Given the description of an element on the screen output the (x, y) to click on. 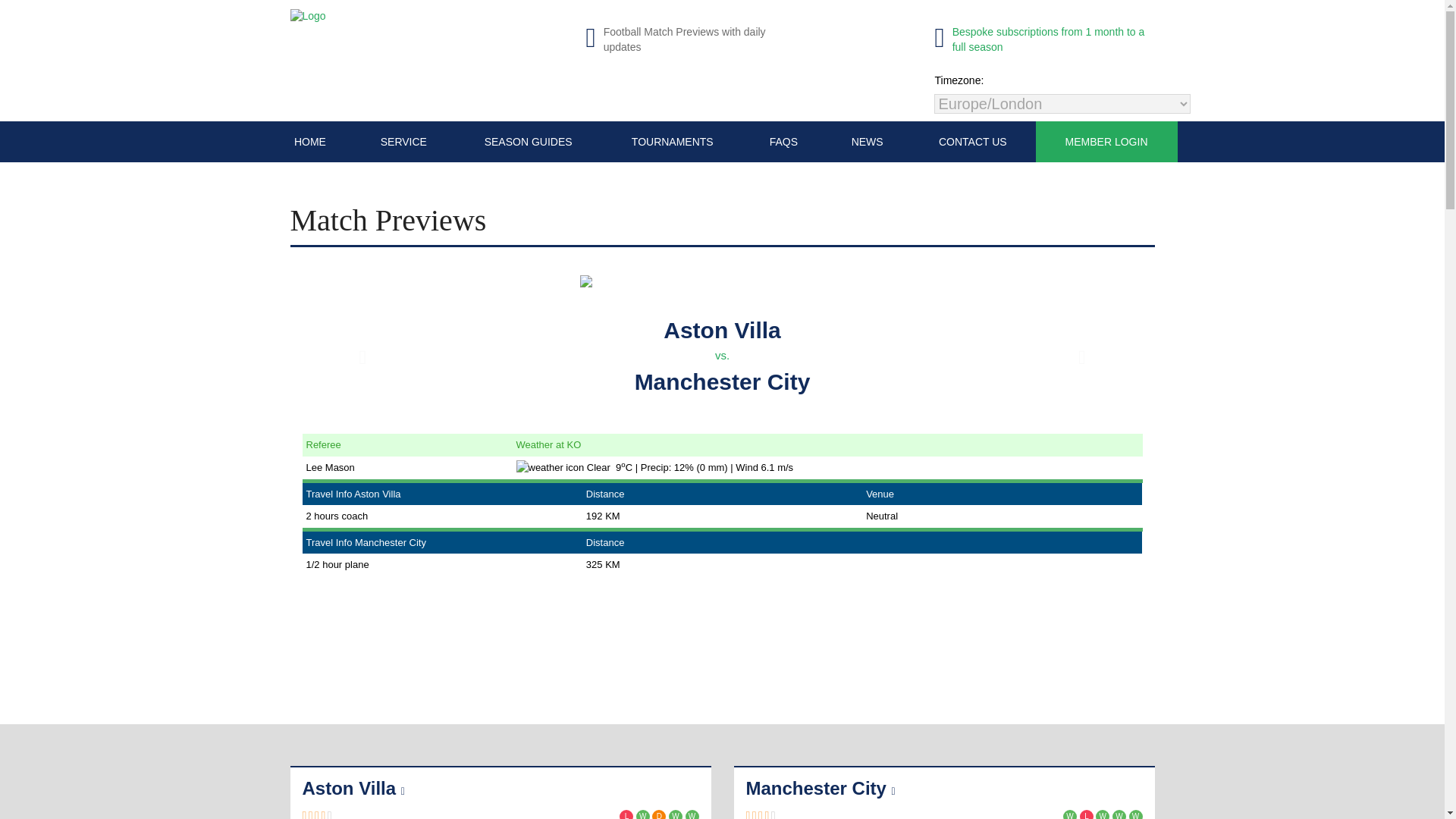
Leicester City 1 vs. Aston Villa 1 (658, 814)
Aston Villa 2 vs. Leicester City 1 (642, 814)
SERVICE (403, 141)
Oxford United 1 vs. Manchester City 3 (1118, 814)
Aston Villa 1 vs. Manchester City 2 (626, 814)
Aston Villa 2 vs. Wolverhampton Wanderers 1 (691, 814)
View Report (722, 355)
TOURNAMENTS (672, 141)
Aston Villa 1 vs. Manchester City 2 (1069, 814)
Manchester United 1 vs. Manchester City 3 (1102, 814)
Bespoke subscriptions from 1 month to a full season (1044, 50)
CONTACT US (972, 141)
NEWS (867, 141)
Manchester City 3 vs. Southampton 1 (1134, 814)
